Given the description of an element on the screen output the (x, y) to click on. 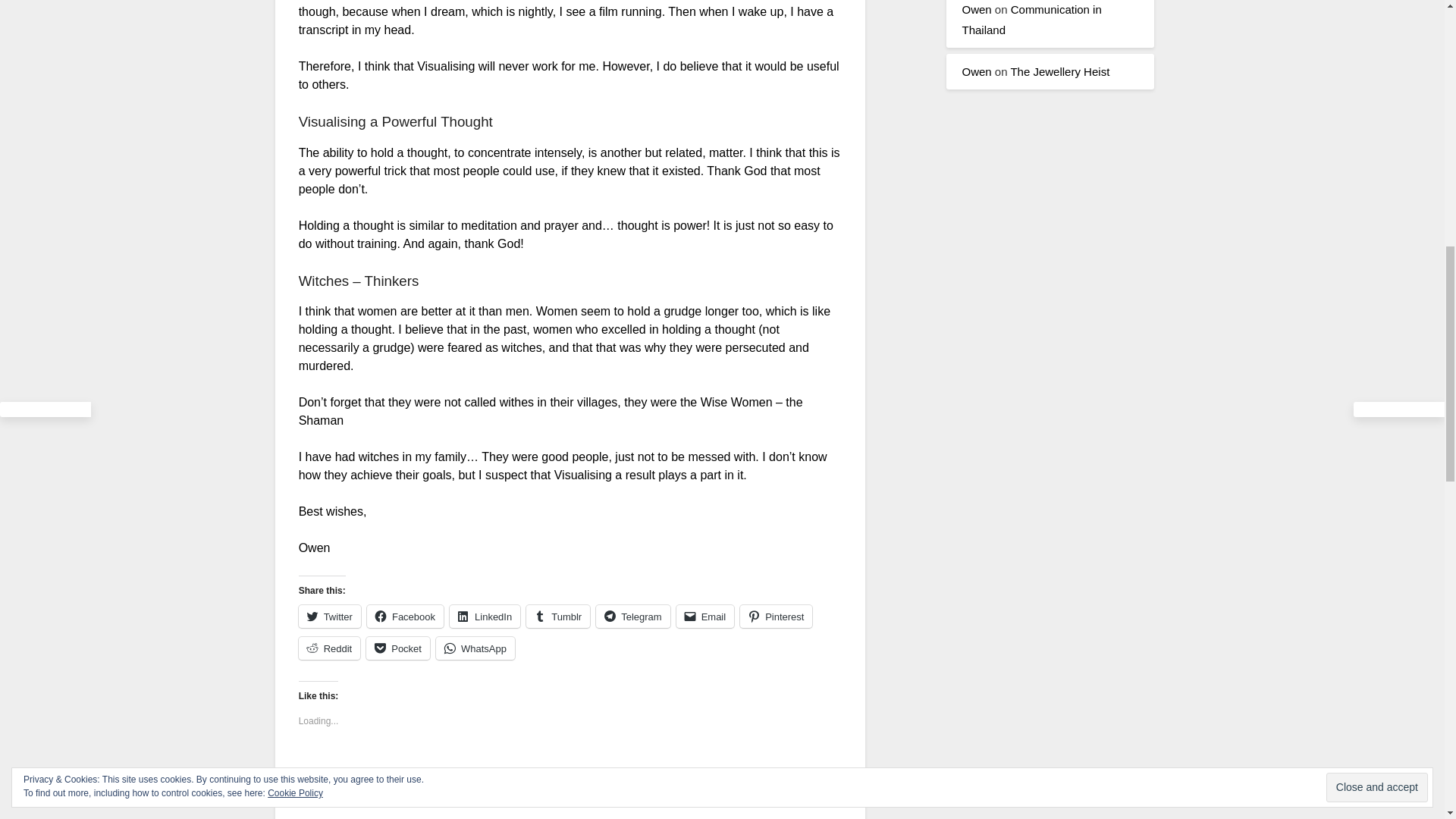
Facebook (405, 616)
Twitter (329, 616)
Click to share on Tumblr (557, 616)
Click to share on Reddit (329, 648)
Click to share on Pinterest (775, 616)
Click to email a link to a friend (706, 616)
Click to share on Twitter (329, 616)
Click to share on WhatsApp (475, 648)
Tumblr (557, 616)
Click to share on Facebook (405, 616)
Click to share on Telegram (632, 616)
Telegram (632, 616)
Click to share on LinkedIn (484, 616)
Pinterest (775, 616)
Click to share on Pocket (397, 648)
